Given the description of an element on the screen output the (x, y) to click on. 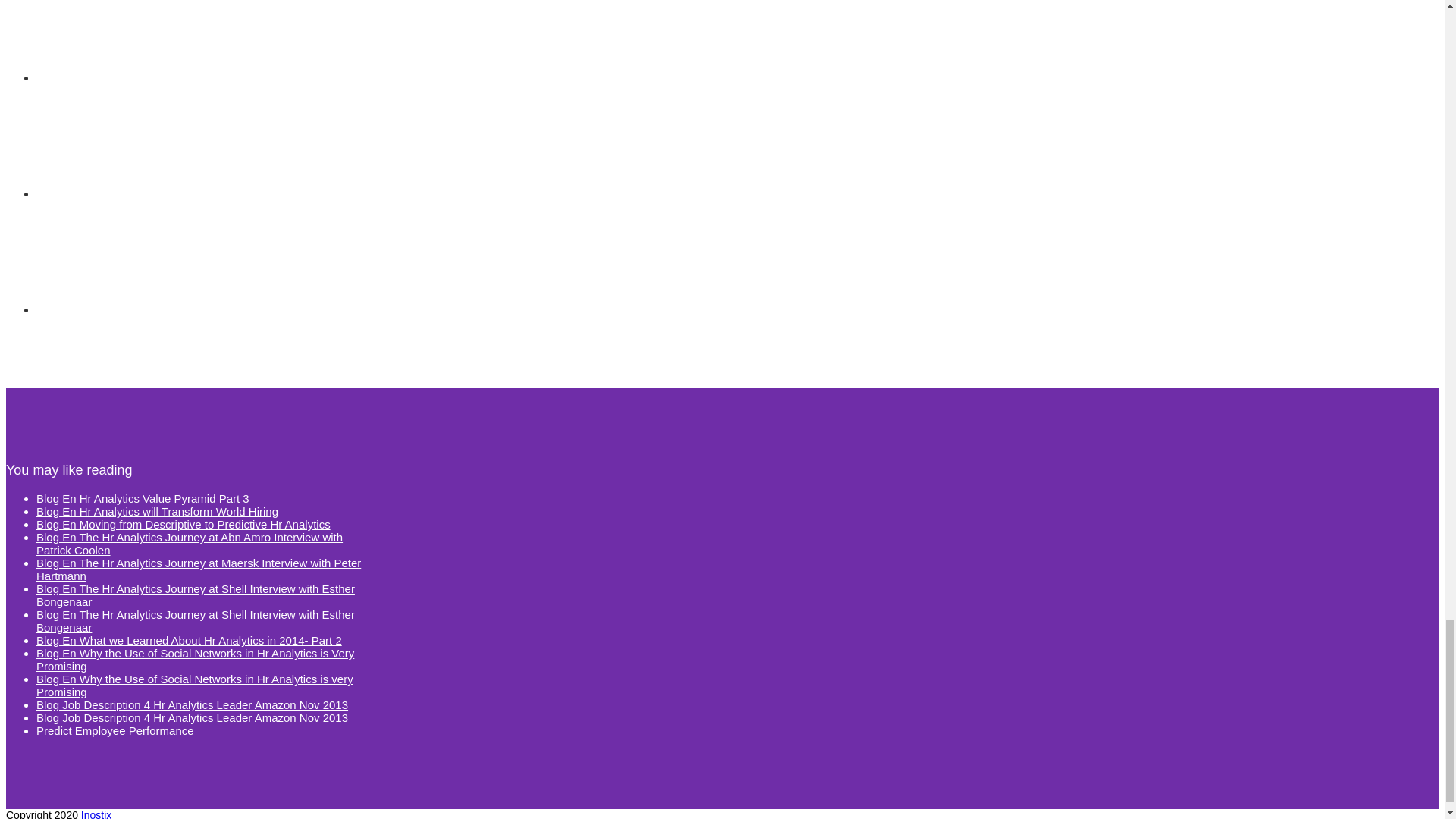
Facebook (149, 40)
Tumblr (149, 141)
Twitter (149, 256)
